Given the description of an element on the screen output the (x, y) to click on. 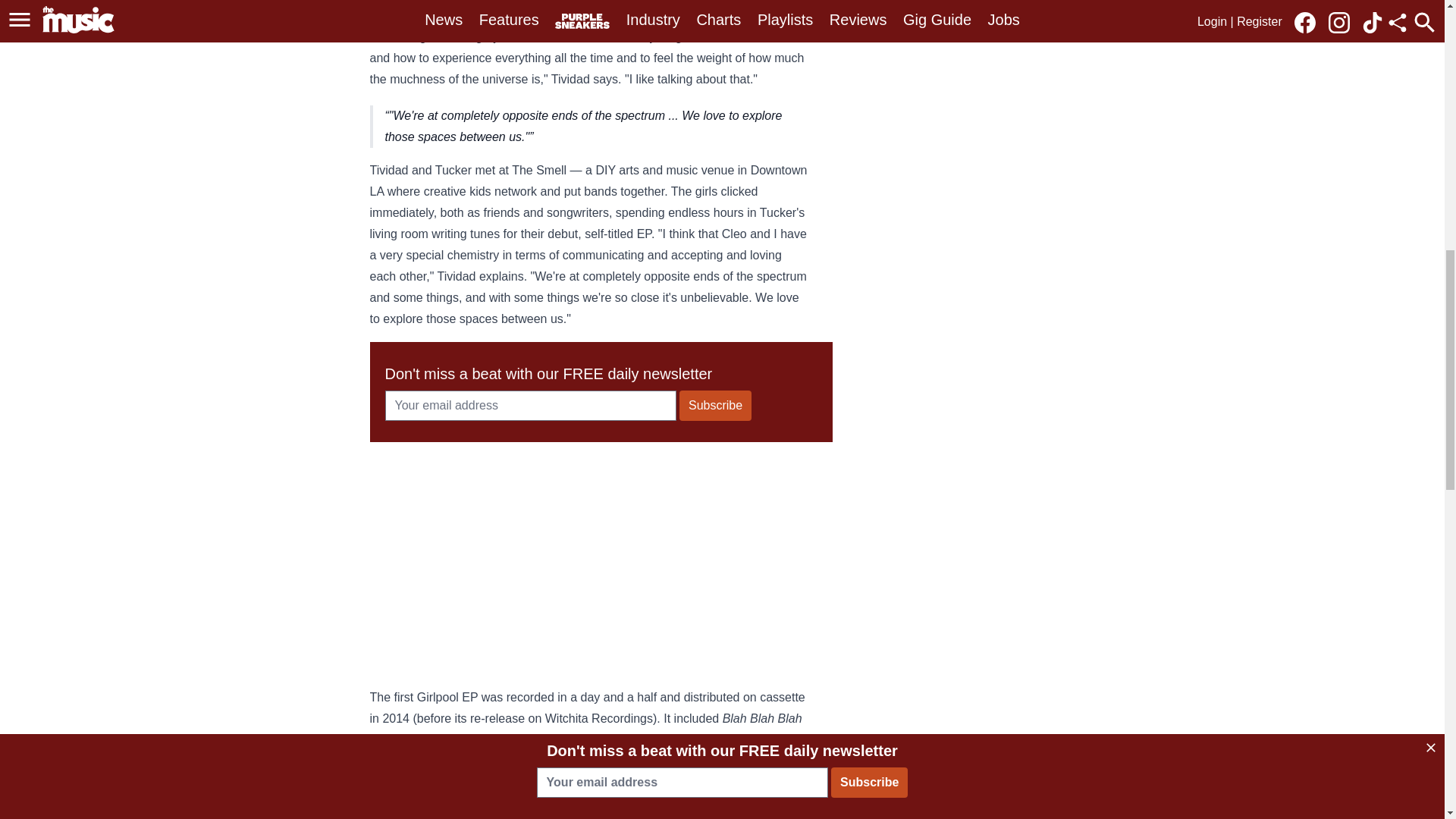
Subscribe (715, 405)
